Given the description of an element on the screen output the (x, y) to click on. 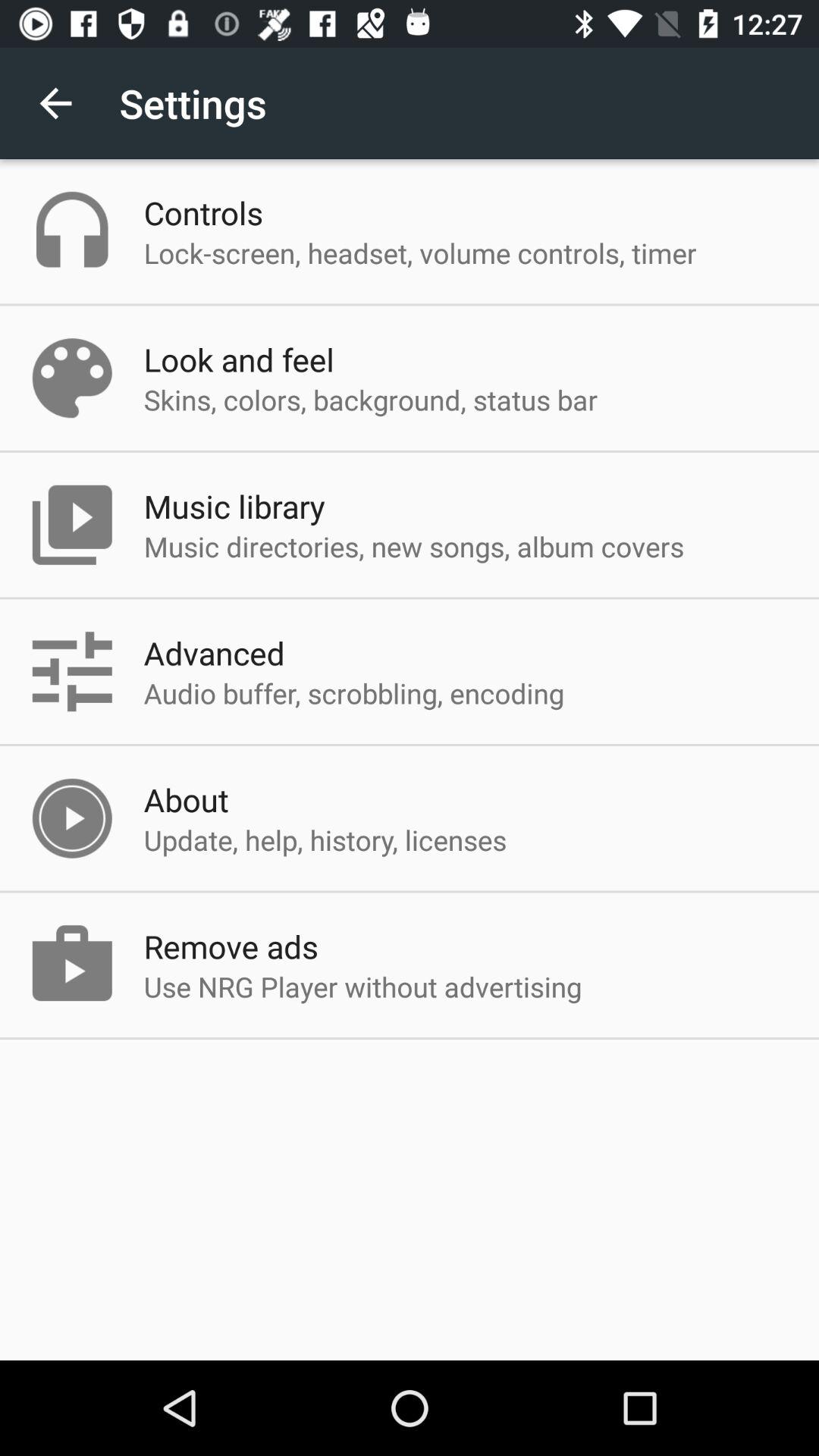
turn on item below the skins colors background item (234, 505)
